Given the description of an element on the screen output the (x, y) to click on. 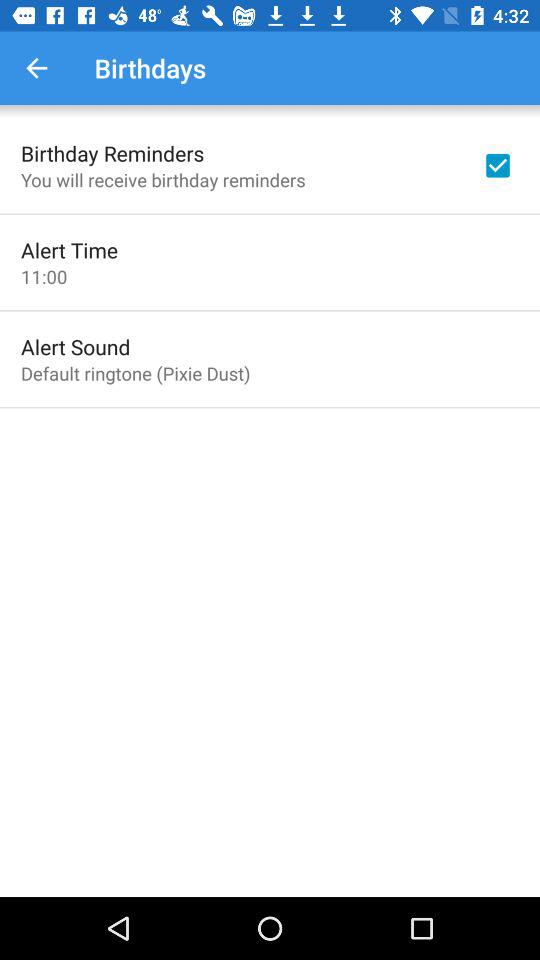
click item above alert time (163, 179)
